Given the description of an element on the screen output the (x, y) to click on. 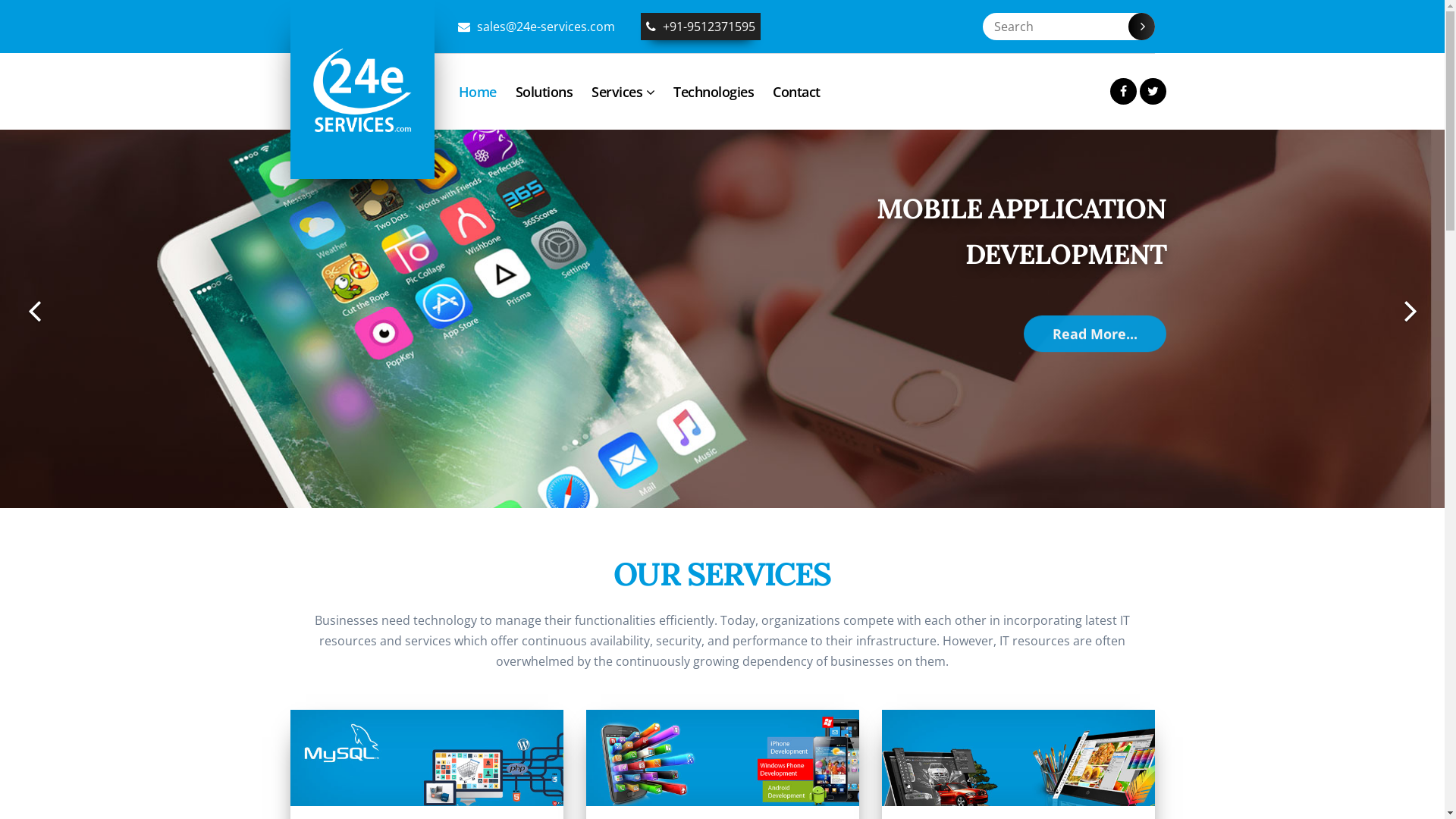
Home Element type: text (476, 91)
Contact Element type: text (796, 91)
Read More... Element type: text (1094, 332)
Technologies Element type: text (713, 91)
Services Element type: text (622, 91)
Solutions Element type: text (544, 91)
